Given the description of an element on the screen output the (x, y) to click on. 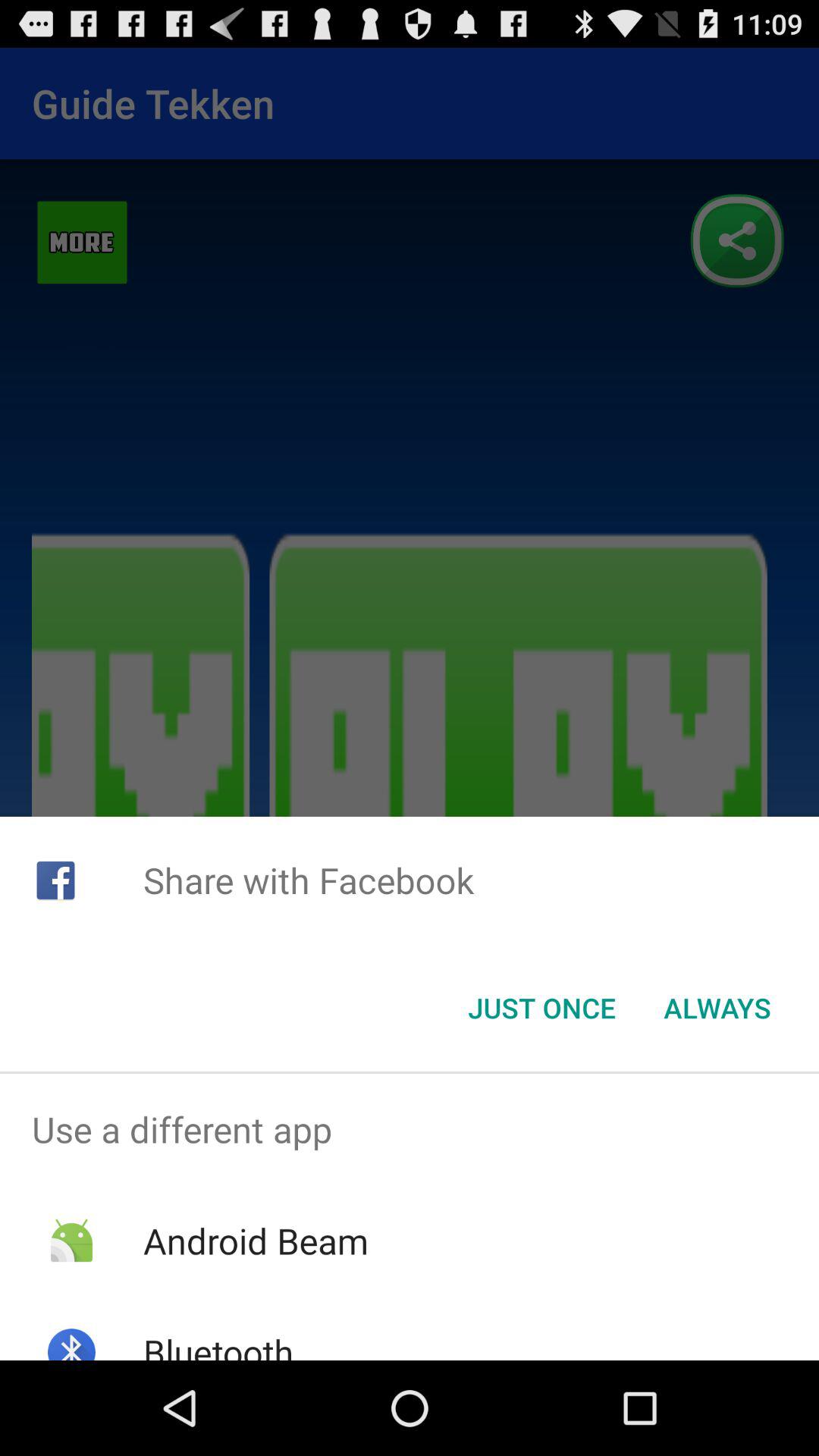
open the icon to the left of always item (541, 1007)
